Given the description of an element on the screen output the (x, y) to click on. 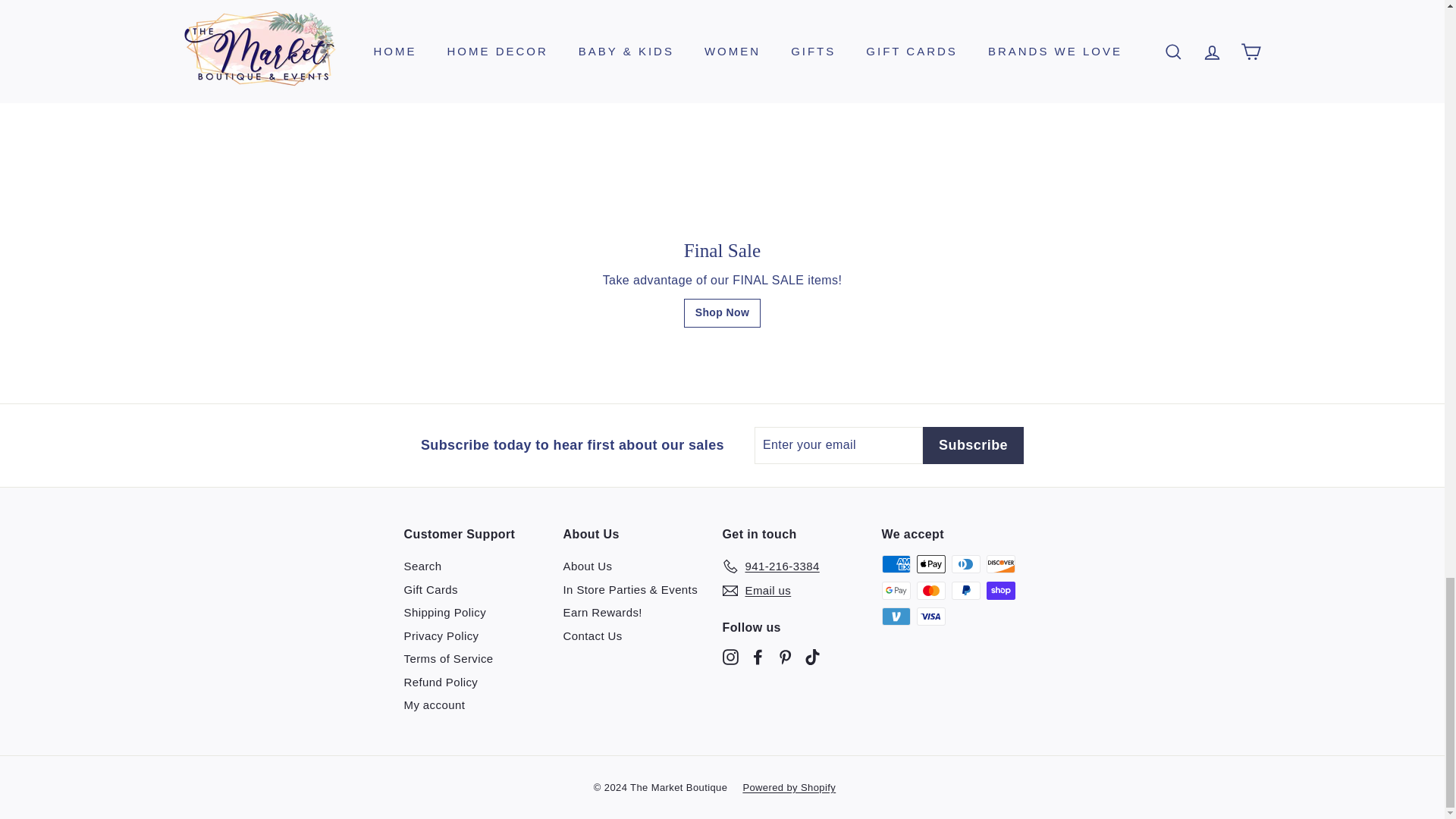
The Market Boutique on TikTok (811, 656)
The Market Boutique on Instagram (730, 656)
The Market Boutique on Pinterest (784, 656)
The Market Boutique on Facebook (757, 656)
